Given the description of an element on the screen output the (x, y) to click on. 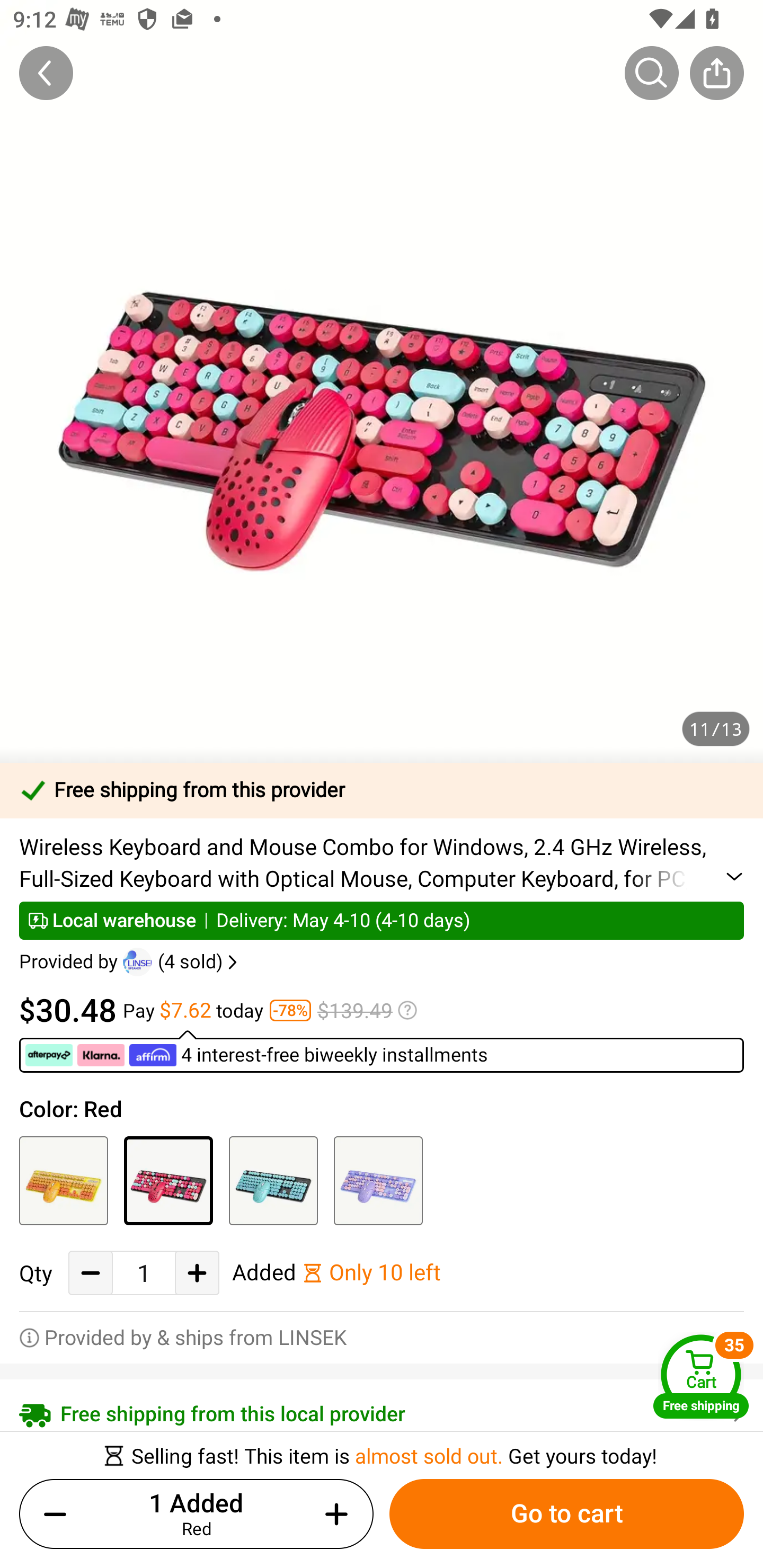
Back (46, 72)
Share (716, 72)
Free shipping from this provider (381, 790)
Local warehouse Delivery: May 4-10 (4-10 days) (381, 920)
By null(4 sold) Provided by  (4 sold) (130, 961)
Provided by  (70, 961)
￼ ￼ ￼ 4 interest-free biweekly installments (381, 1051)
￼ ￼ ￼ 4 interest-free biweekly installments (256, 1055)
Yellow (63, 1180)
Red (167, 1180)
Green (273, 1180)
Purple (378, 1180)
Decrease Quantity Button (90, 1273)
Add Quantity button (196, 1273)
1 (143, 1273)
Cart Free shipping Cart (701, 1375)
Decrease Quantity Button (59, 1513)
Add Quantity button (332, 1513)
Go to cart (566, 1513)
